Given the description of an element on the screen output the (x, y) to click on. 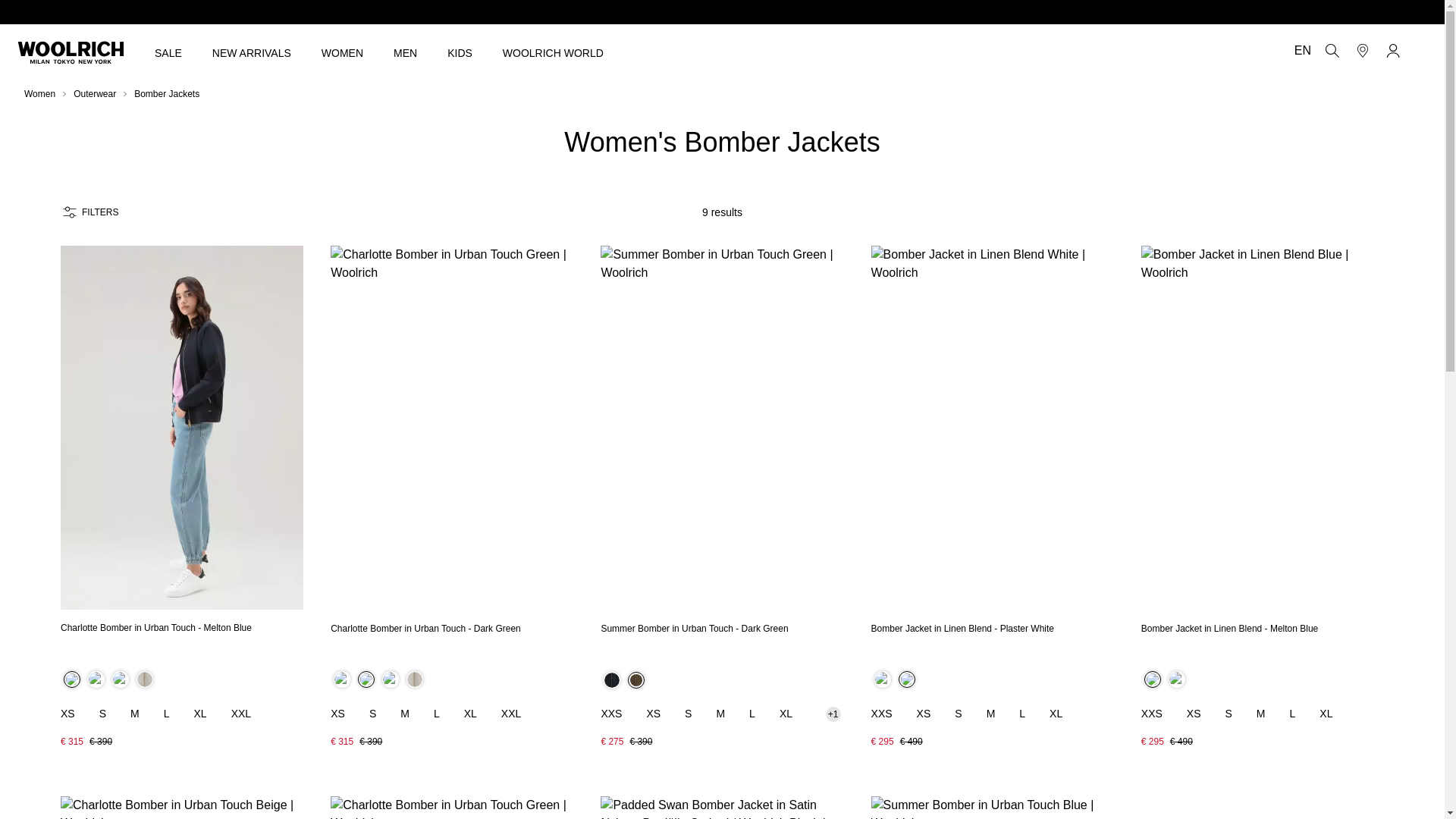
Melton Blue (72, 678)
WOOLRICH WORLD (553, 52)
breadcrumbs Outerwear (95, 93)
EN (1301, 49)
Sage (389, 678)
Melton Blue (341, 678)
Women (39, 93)
breadcrumbs Bomber Jackets (166, 93)
MEN (404, 52)
Melton Blue (1152, 678)
